Given the description of an element on the screen output the (x, y) to click on. 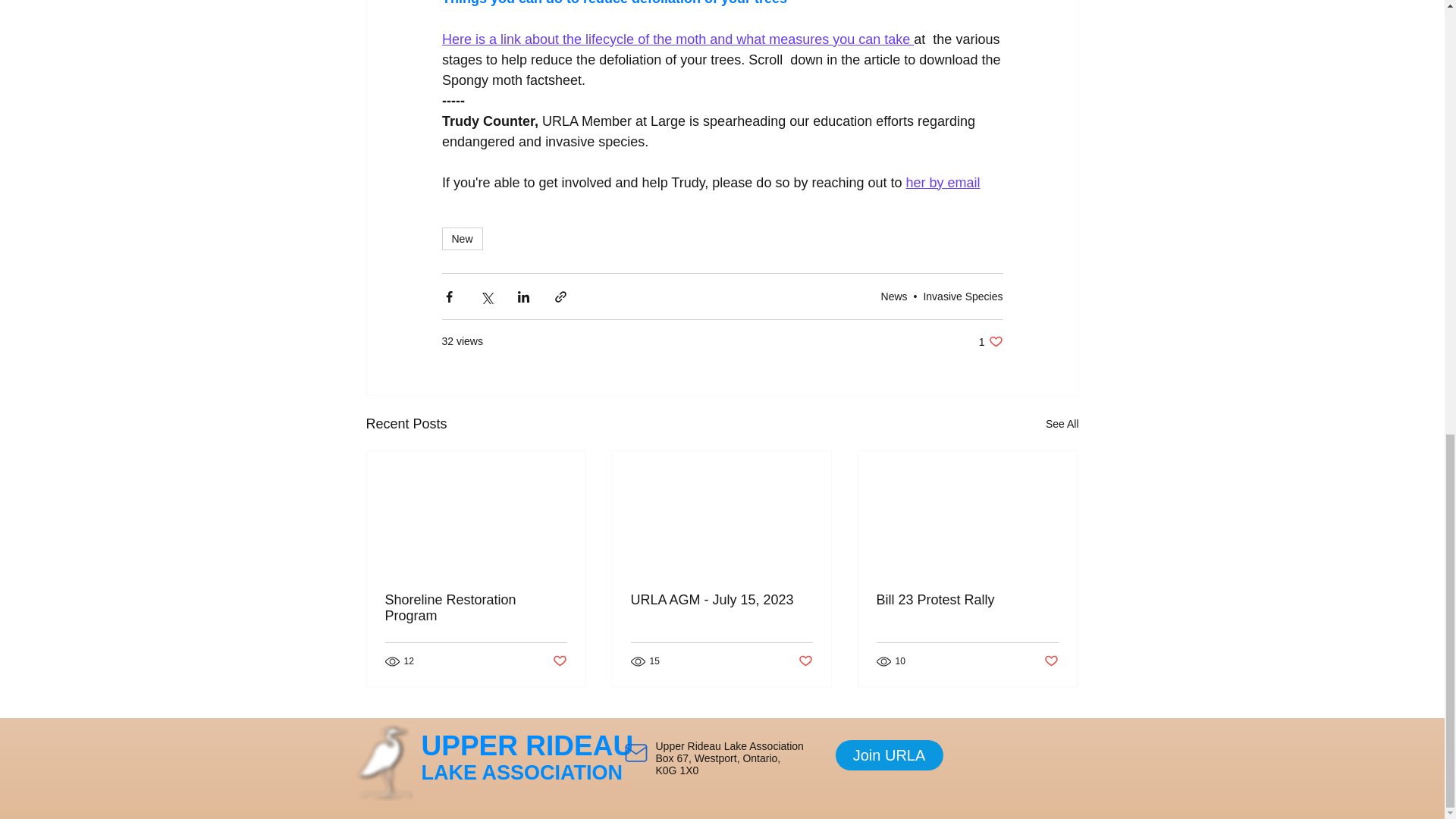
Invasive Species (963, 296)
Post not marked as liked (1050, 661)
Bill 23 Protest Rally (967, 600)
News (893, 296)
Shoreline Restoration Program (476, 608)
See All (1061, 423)
Post not marked as liked (558, 661)
New (461, 238)
LAKE ASSOCIATION (522, 772)
URLA AGM - July 15, 2023 (721, 600)
UPPER RIDEAU (527, 745)
her by email (942, 181)
Post not marked as liked (804, 661)
